Given the description of an element on the screen output the (x, y) to click on. 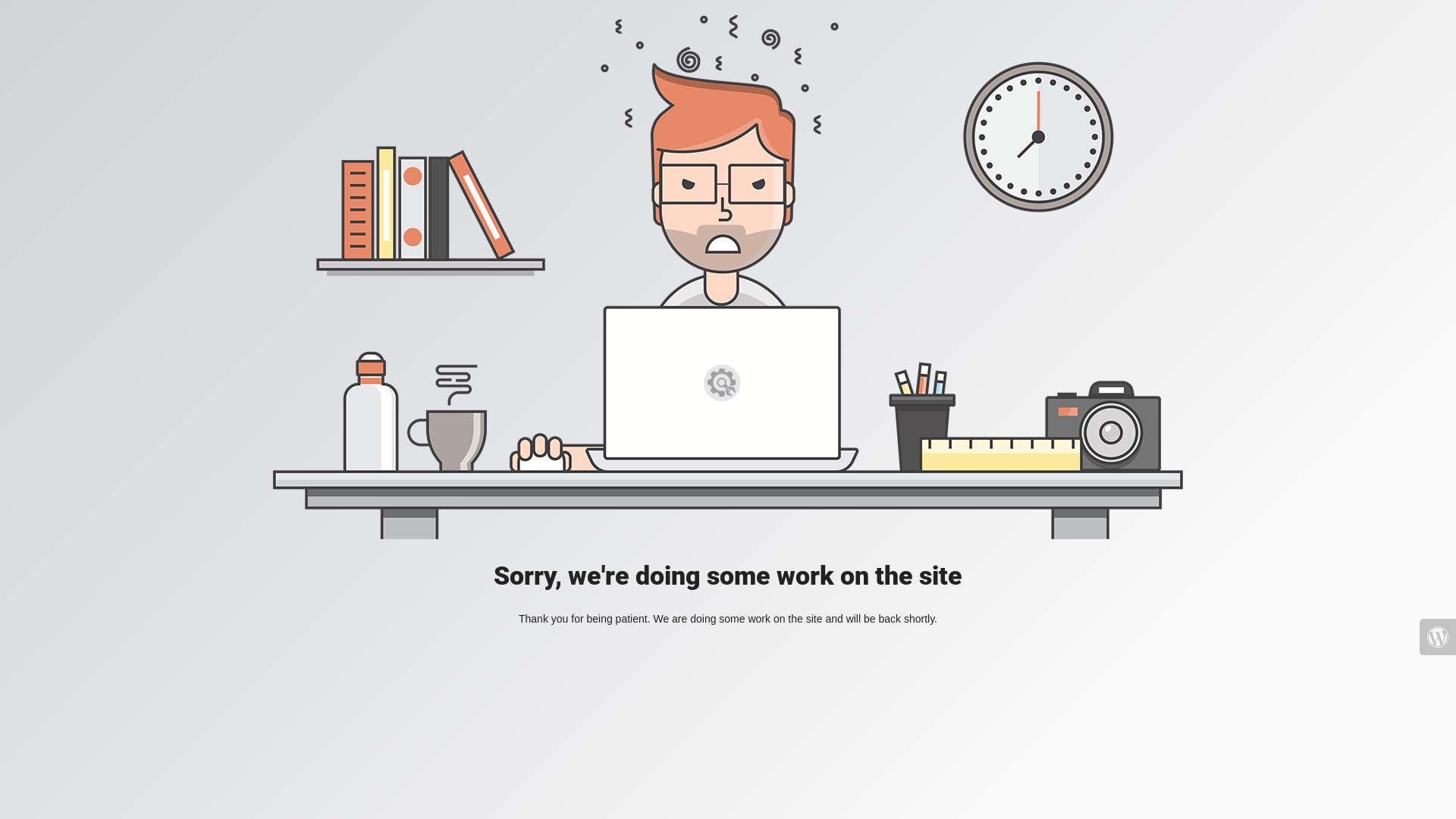
Mad Designer at work Element type: hover (728, 277)
